Given the description of an element on the screen output the (x, y) to click on. 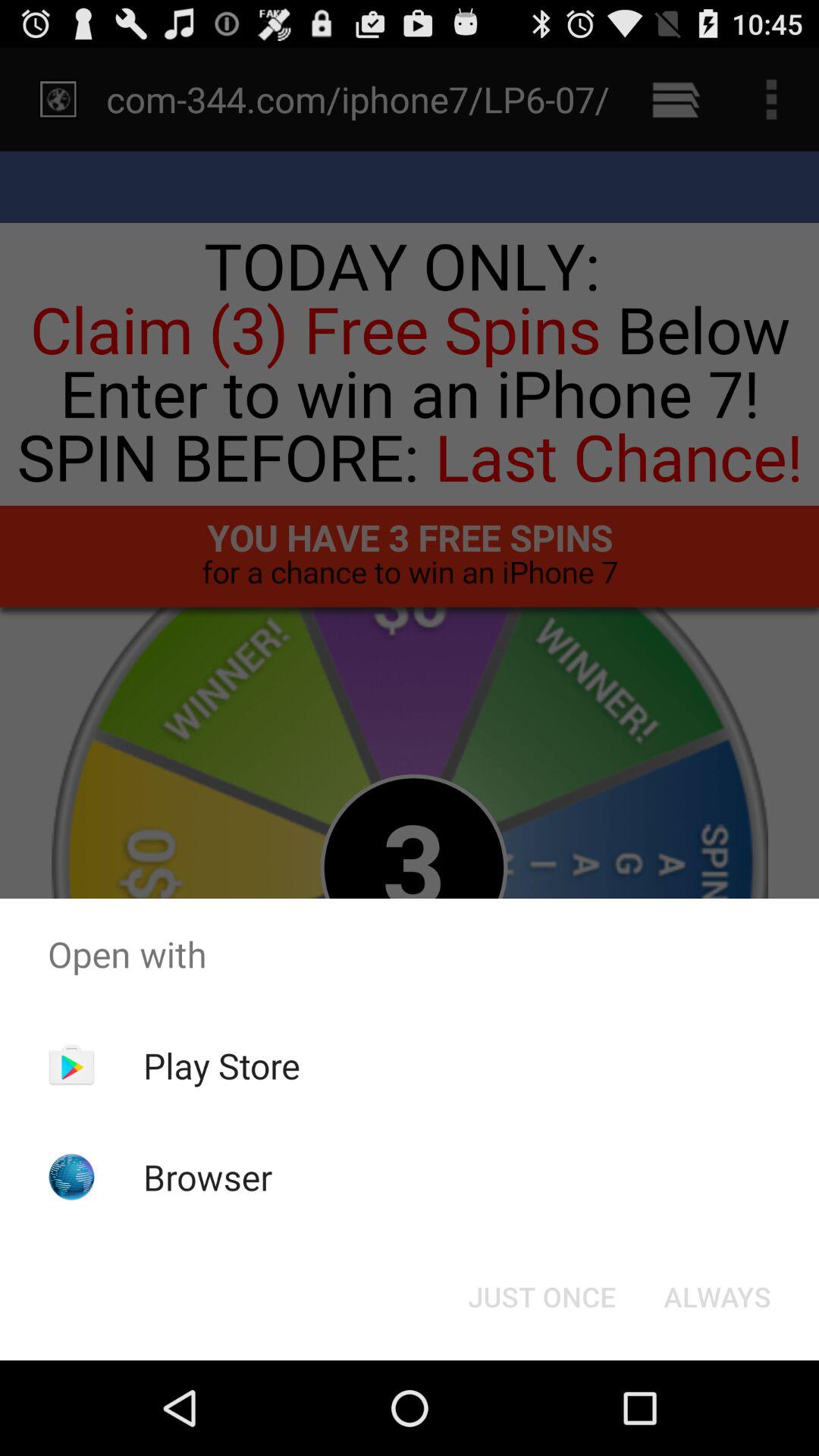
turn on the browser app (207, 1176)
